Given the description of an element on the screen output the (x, y) to click on. 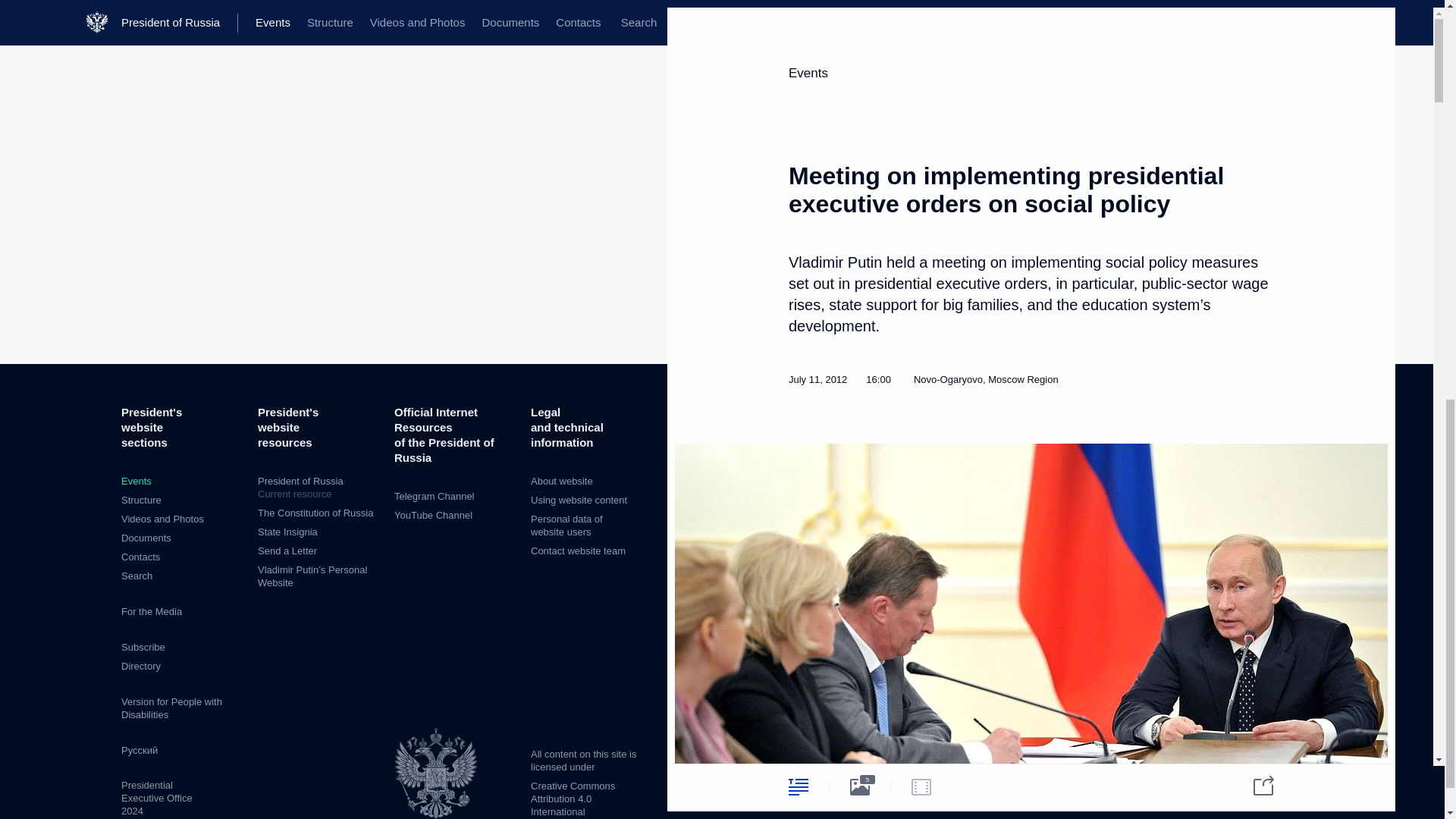
Contacts (140, 556)
Videos and Photos (161, 518)
About website (561, 480)
Using website content (579, 500)
The Constitution of Russia (314, 512)
Subscribe (142, 646)
Documents (145, 537)
Version for People with Disabilities (171, 708)
Telegram Channel (434, 496)
